Given the description of an element on the screen output the (x, y) to click on. 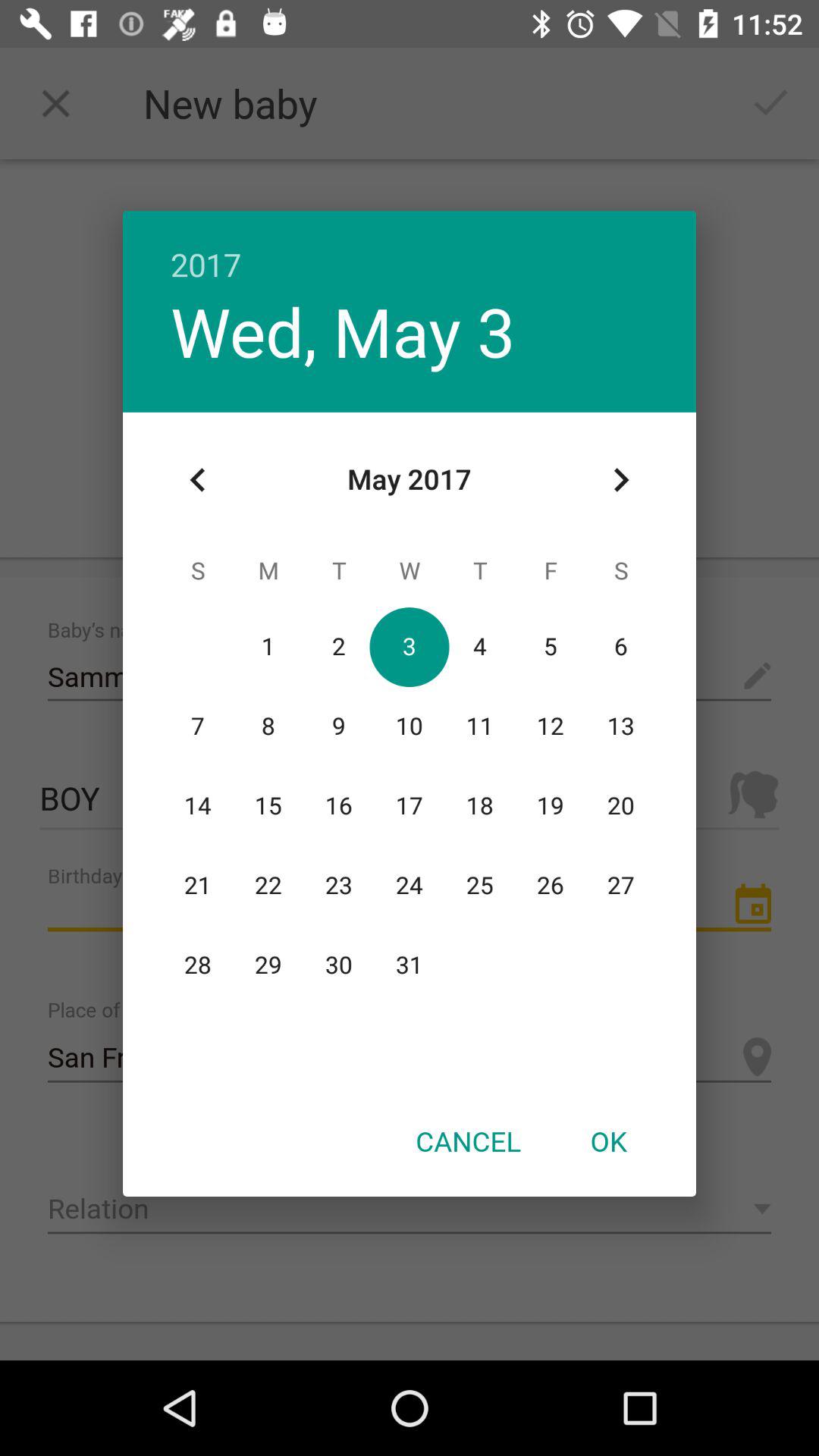
click icon below the 2017 (620, 479)
